Given the description of an element on the screen output the (x, y) to click on. 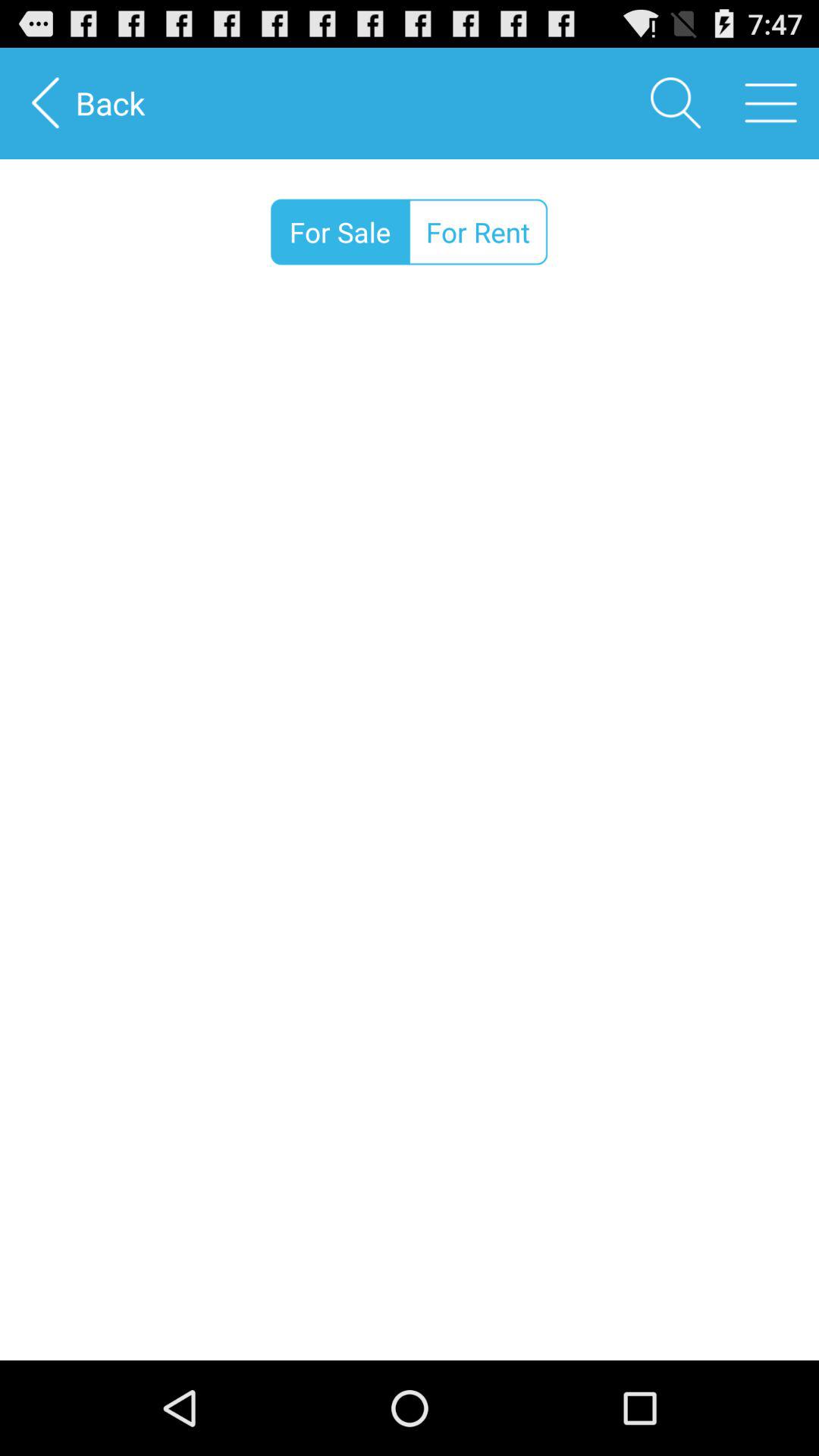
jump to for rent (477, 232)
